Given the description of an element on the screen output the (x, y) to click on. 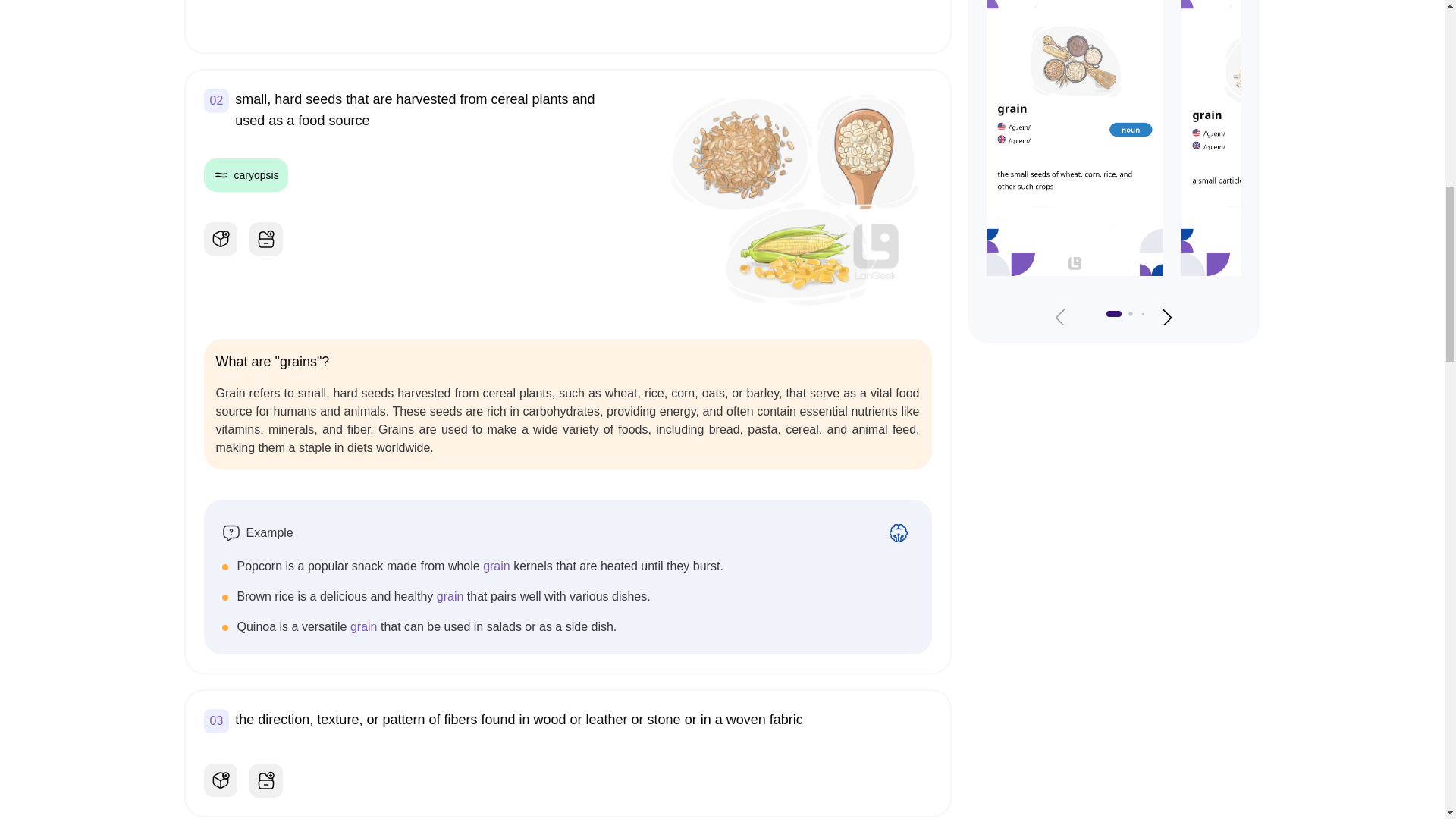
Add to your wordlist (265, 239)
Add to your wordlist (265, 780)
caryopsis (244, 174)
see more examples (897, 533)
grain definition and meaning (796, 195)
